Given the description of an element on the screen output the (x, y) to click on. 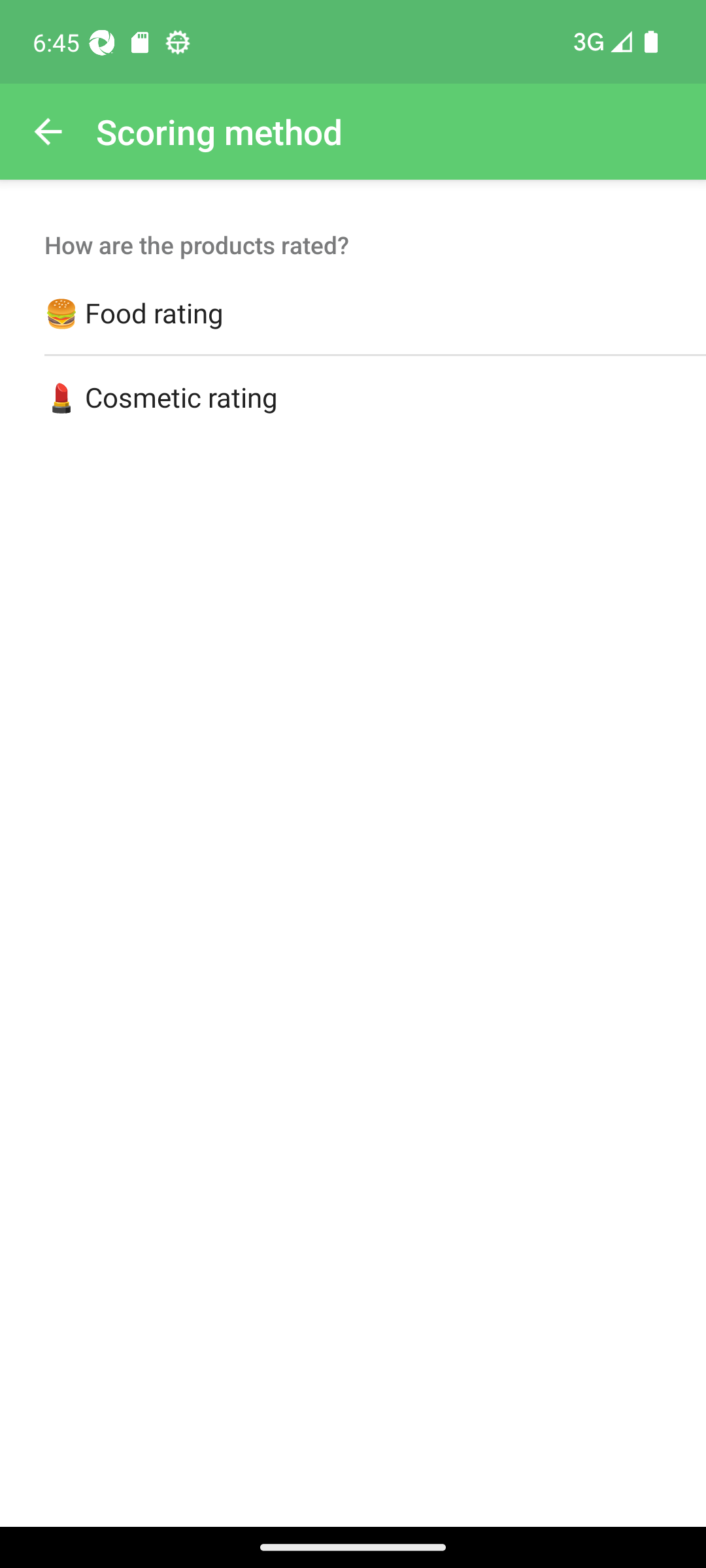
🍔 Food rating (353, 313)
💄 Cosmetic rating (353, 397)
